Given the description of an element on the screen output the (x, y) to click on. 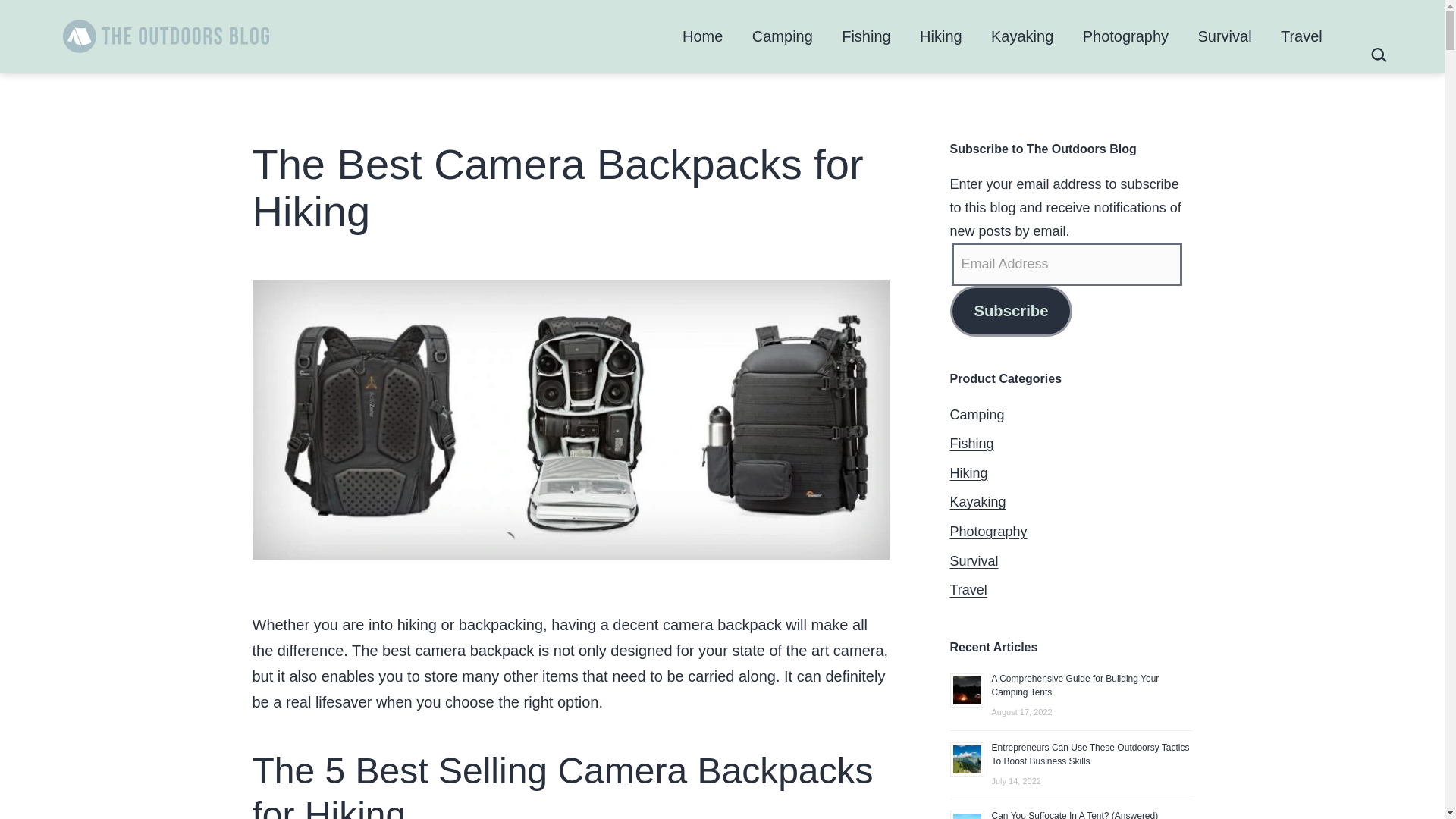
Camping (782, 35)
Photography (1124, 35)
Fishing (866, 35)
Survival (1225, 35)
Kayaking (1022, 35)
Travel (1301, 35)
Home (702, 35)
Hiking (941, 35)
